Given the description of an element on the screen output the (x, y) to click on. 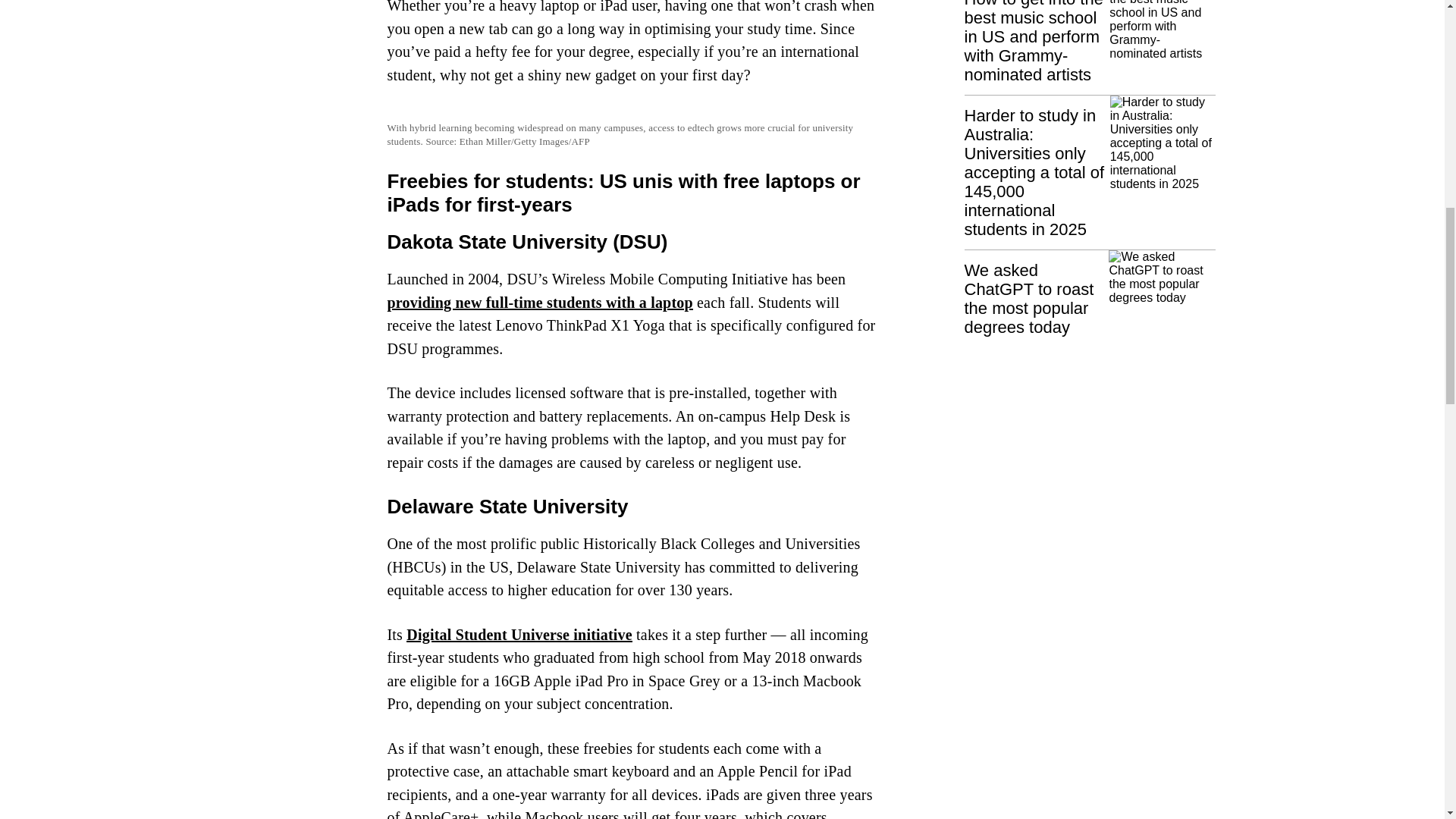
We asked ChatGPT to roast the most popular degrees today (1089, 292)
providing new full-time students with a laptop (540, 302)
Digital Student Universe initiative (518, 634)
